Given the description of an element on the screen output the (x, y) to click on. 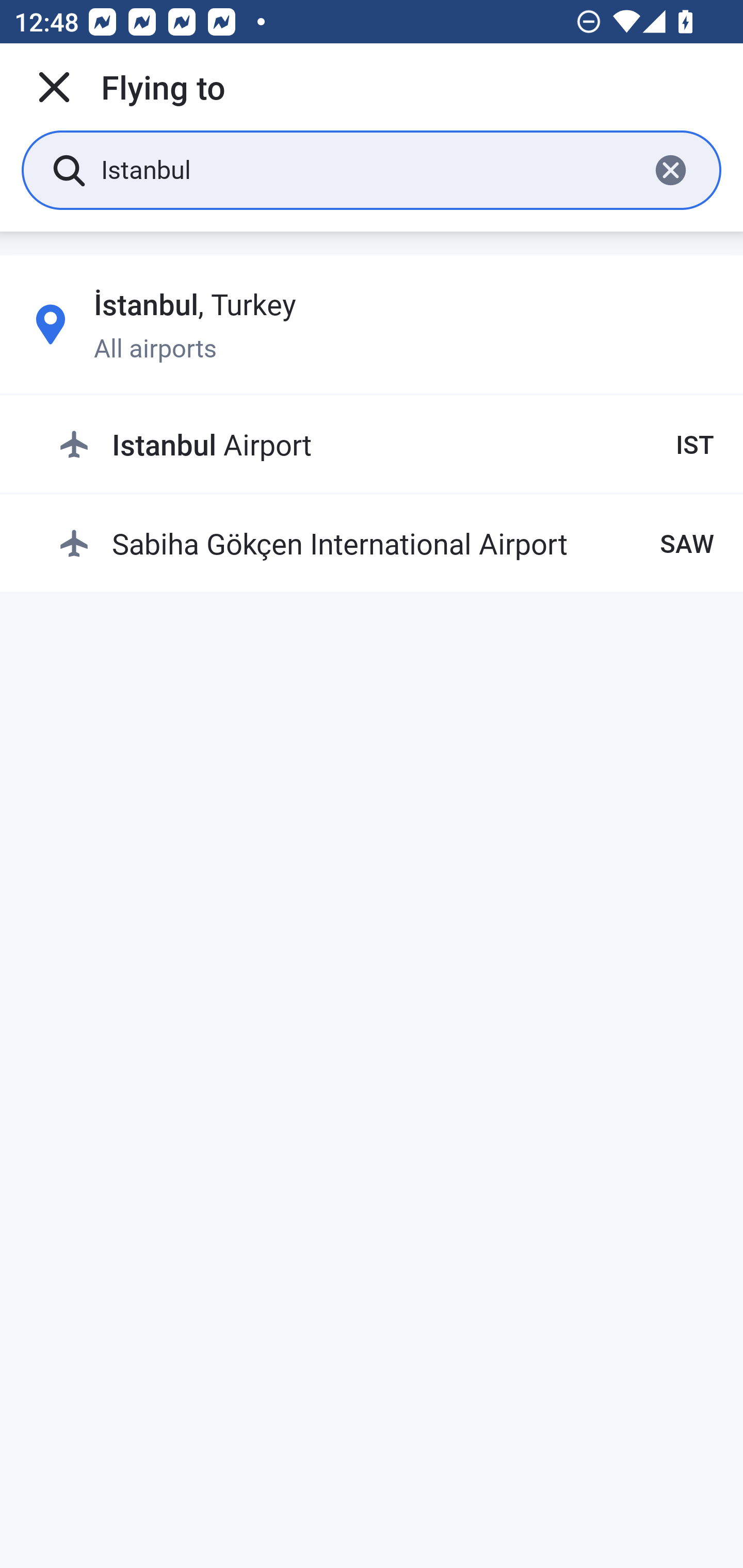
Istanbul (367, 169)
İstanbul, Turkey All airports (371, 324)
Istanbul Airport IST (385, 444)
Sabiha Gökçen International Airport SAW (385, 543)
